Given the description of an element on the screen output the (x, y) to click on. 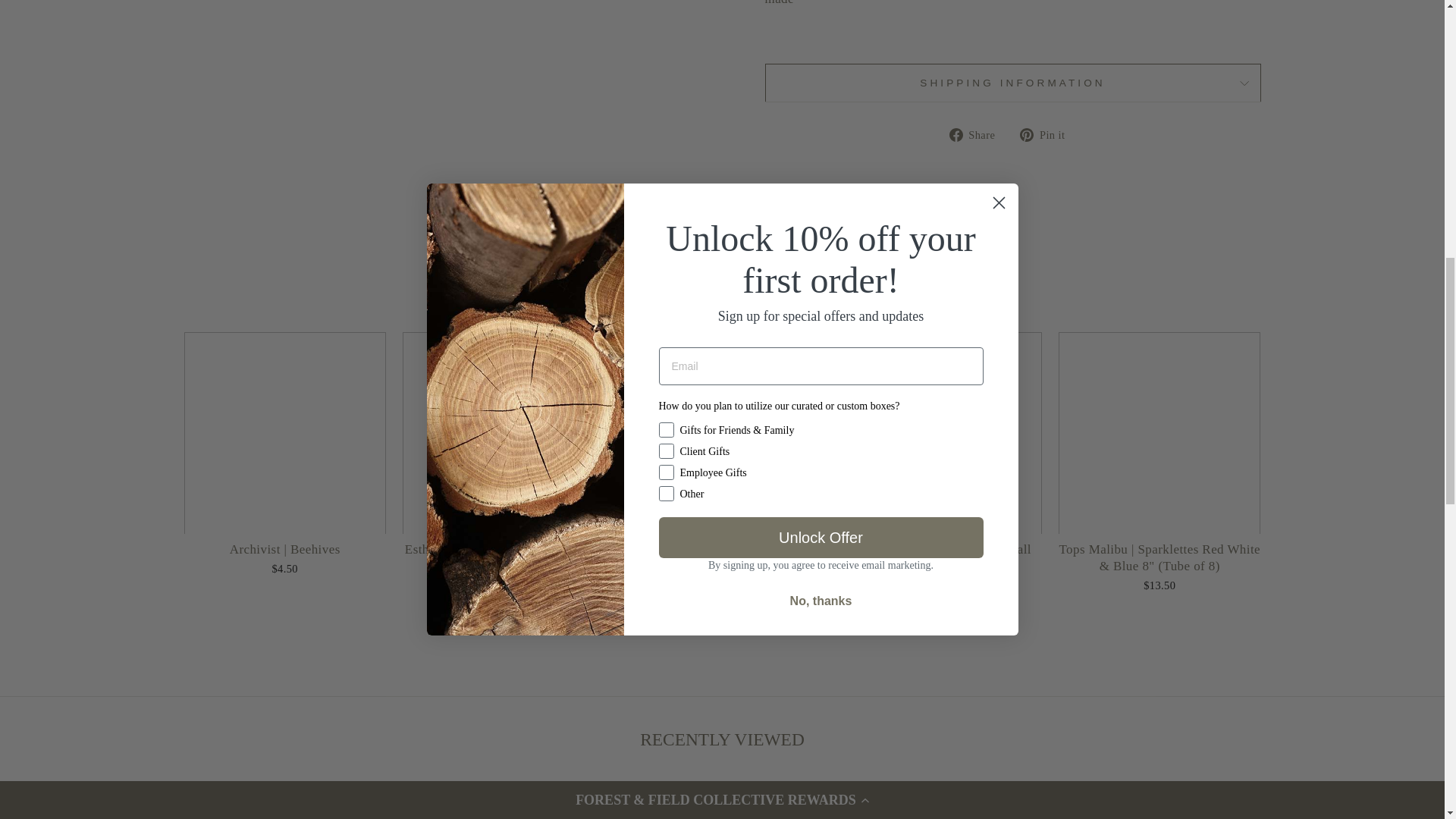
Share on Facebook (978, 134)
Pin on Pinterest (1047, 134)
